Given the description of an element on the screen output the (x, y) to click on. 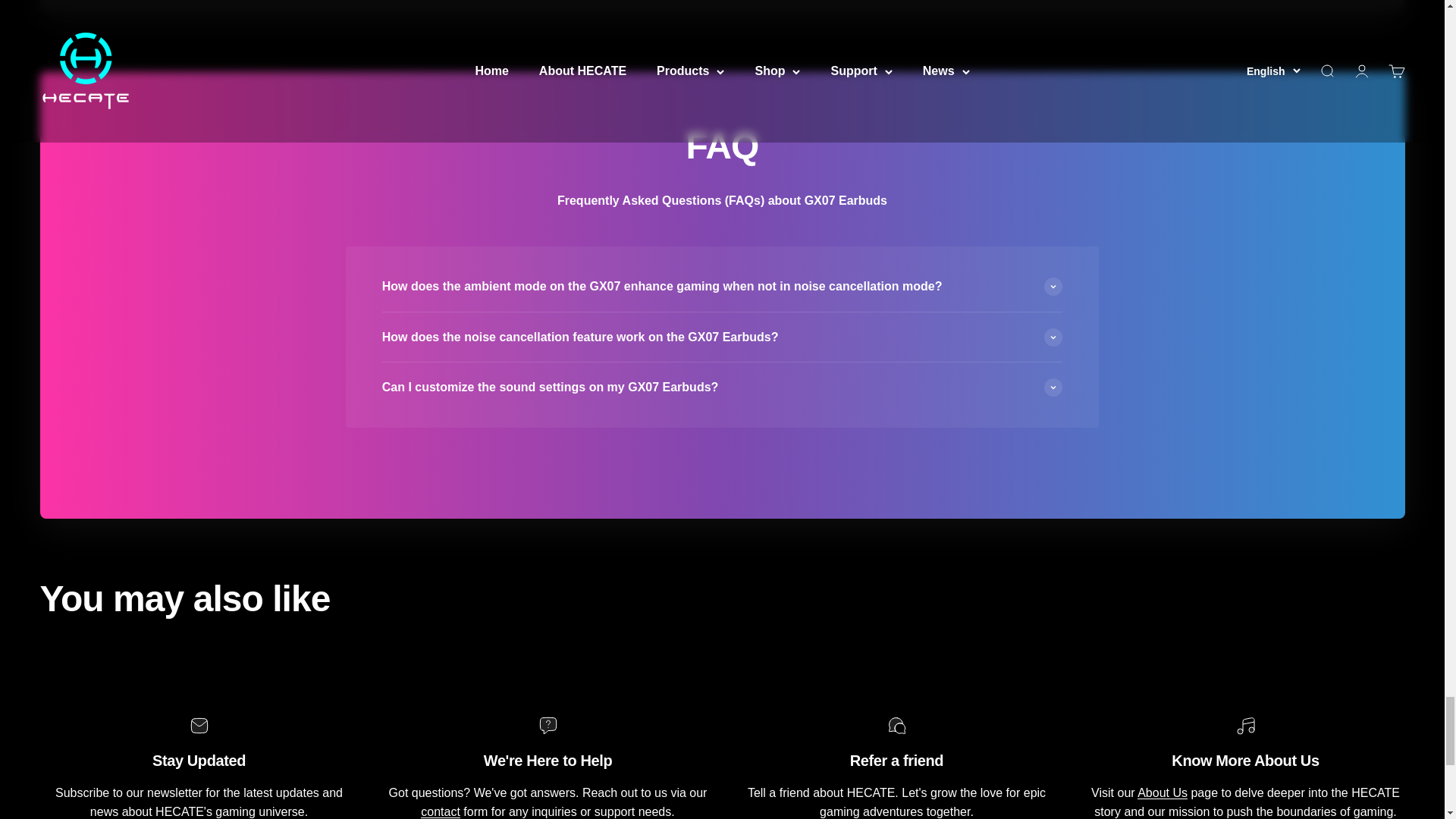
Contact Us (440, 811)
About Us (1162, 792)
